Given the description of an element on the screen output the (x, y) to click on. 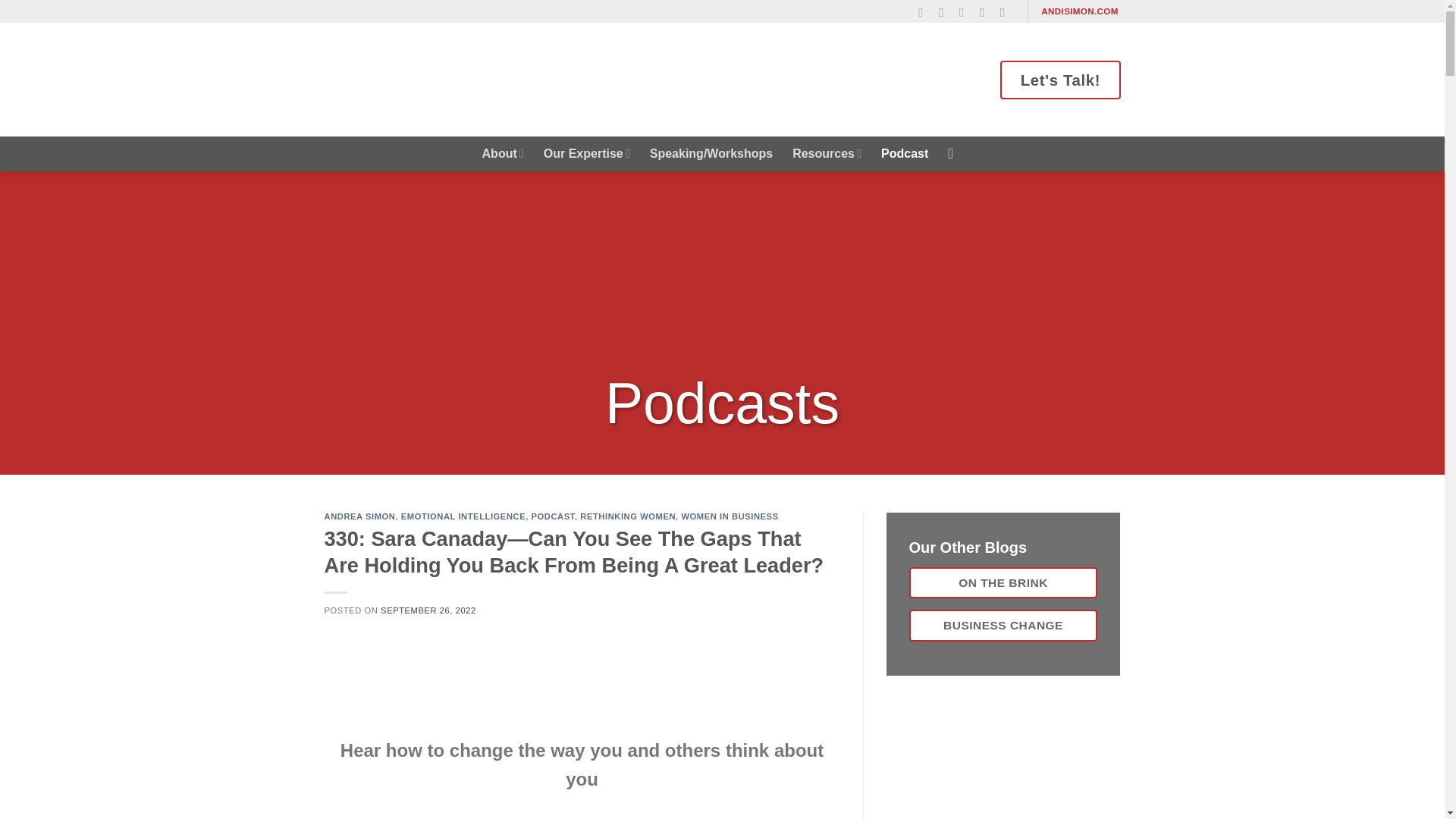
Follow on YouTube (1006, 11)
Podcast (904, 153)
About (502, 153)
Let's Talk! (1059, 79)
Resources (826, 153)
Follow on Facebook (924, 11)
Follow on Instagram (945, 11)
Simon Associates - Management Consultants (456, 78)
Follow on Twitter (965, 11)
ANDISIMON.COM (1080, 11)
Our Expertise (586, 153)
Follow on LinkedIn (985, 11)
